Given the description of an element on the screen output the (x, y) to click on. 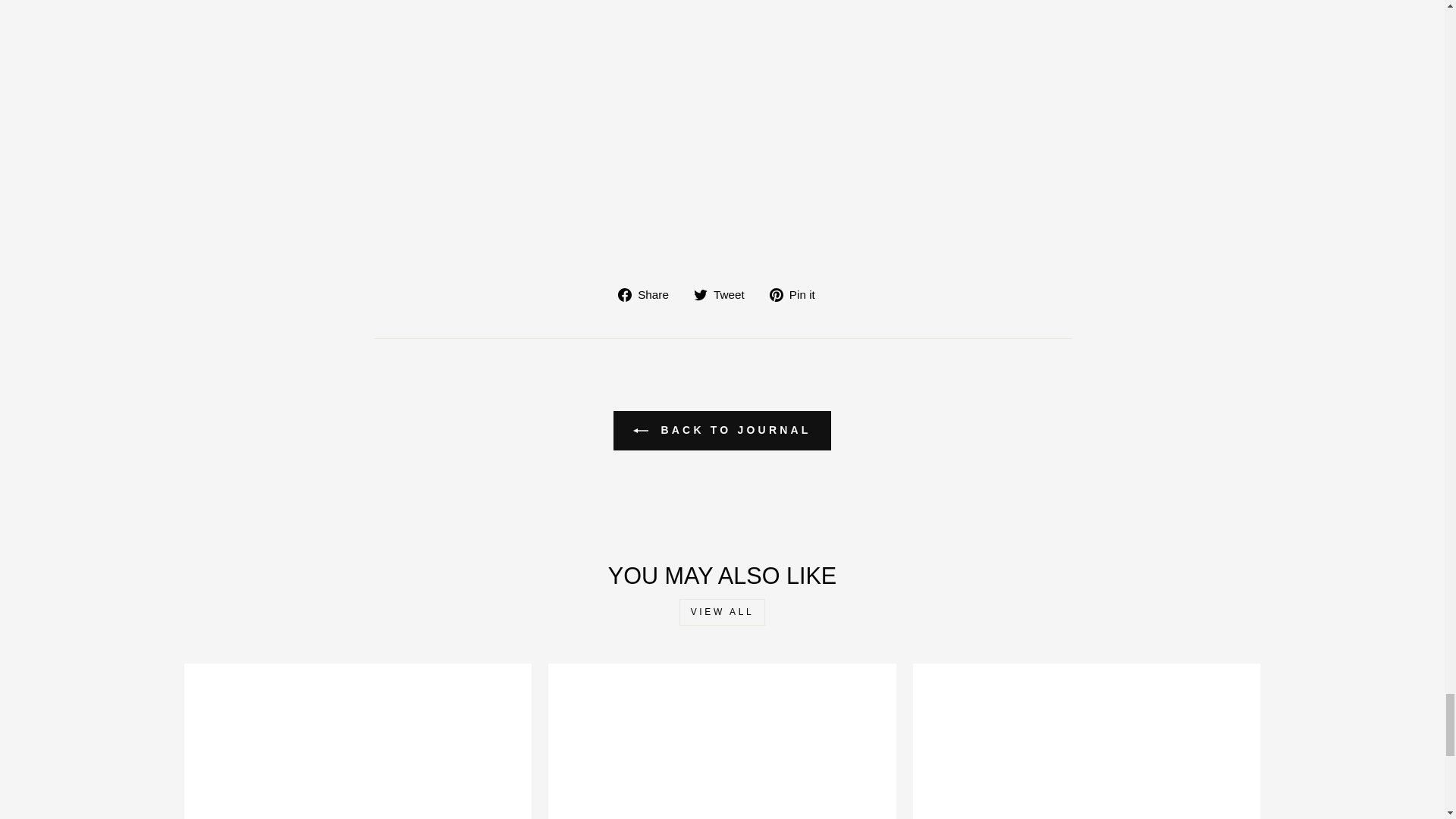
Tweet on Twitter (724, 294)
Pin on Pinterest (798, 294)
Share on Facebook (648, 294)
